Given the description of an element on the screen output the (x, y) to click on. 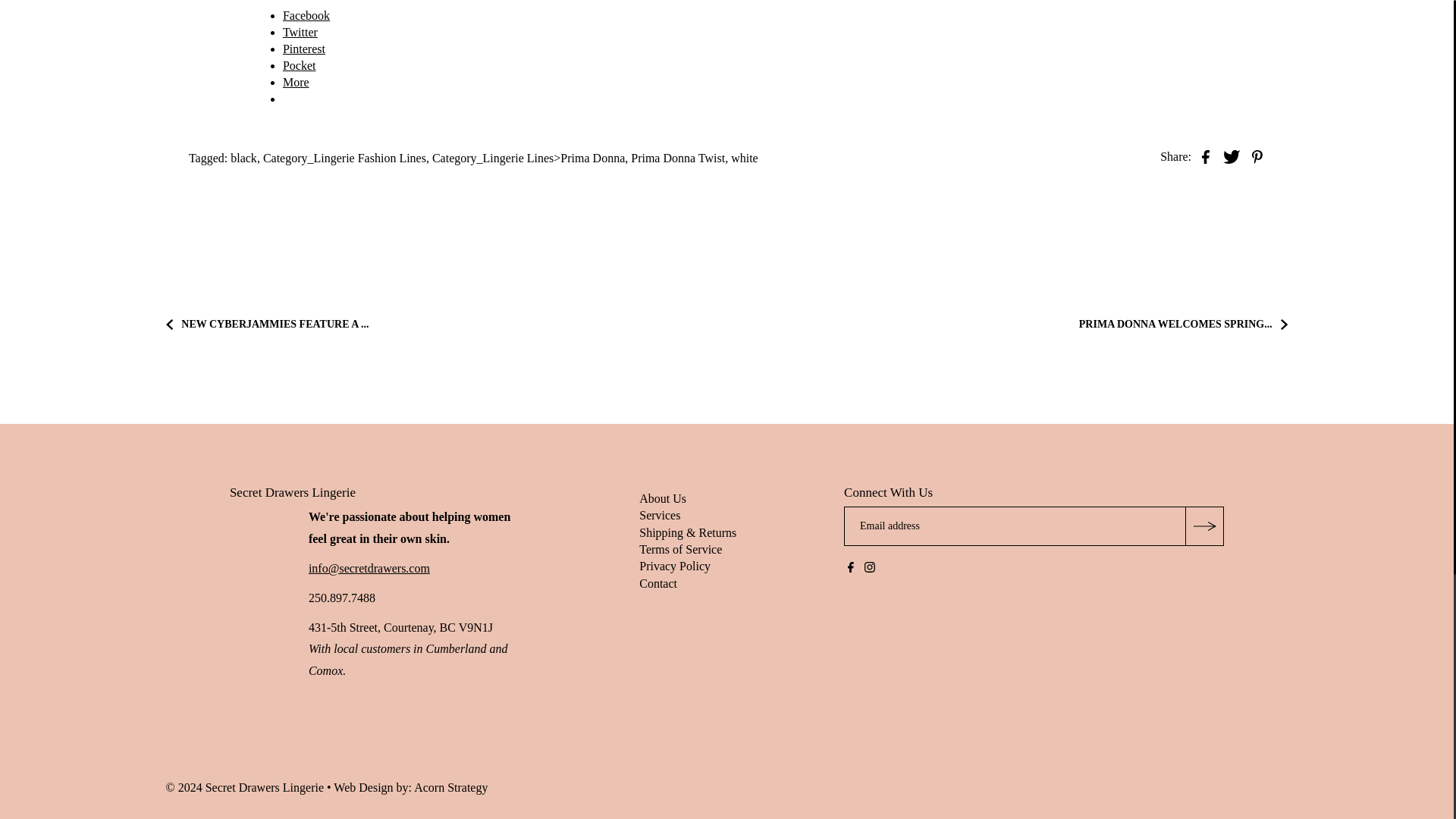
Share on Pinterest (1257, 155)
Share on Twitter (1231, 155)
Share on Facebook (1205, 155)
Click to share on Facebook (306, 15)
Click to share on Pinterest (303, 48)
Click to share on Pocket (298, 65)
Click to share on Twitter (299, 31)
